Given the description of an element on the screen output the (x, y) to click on. 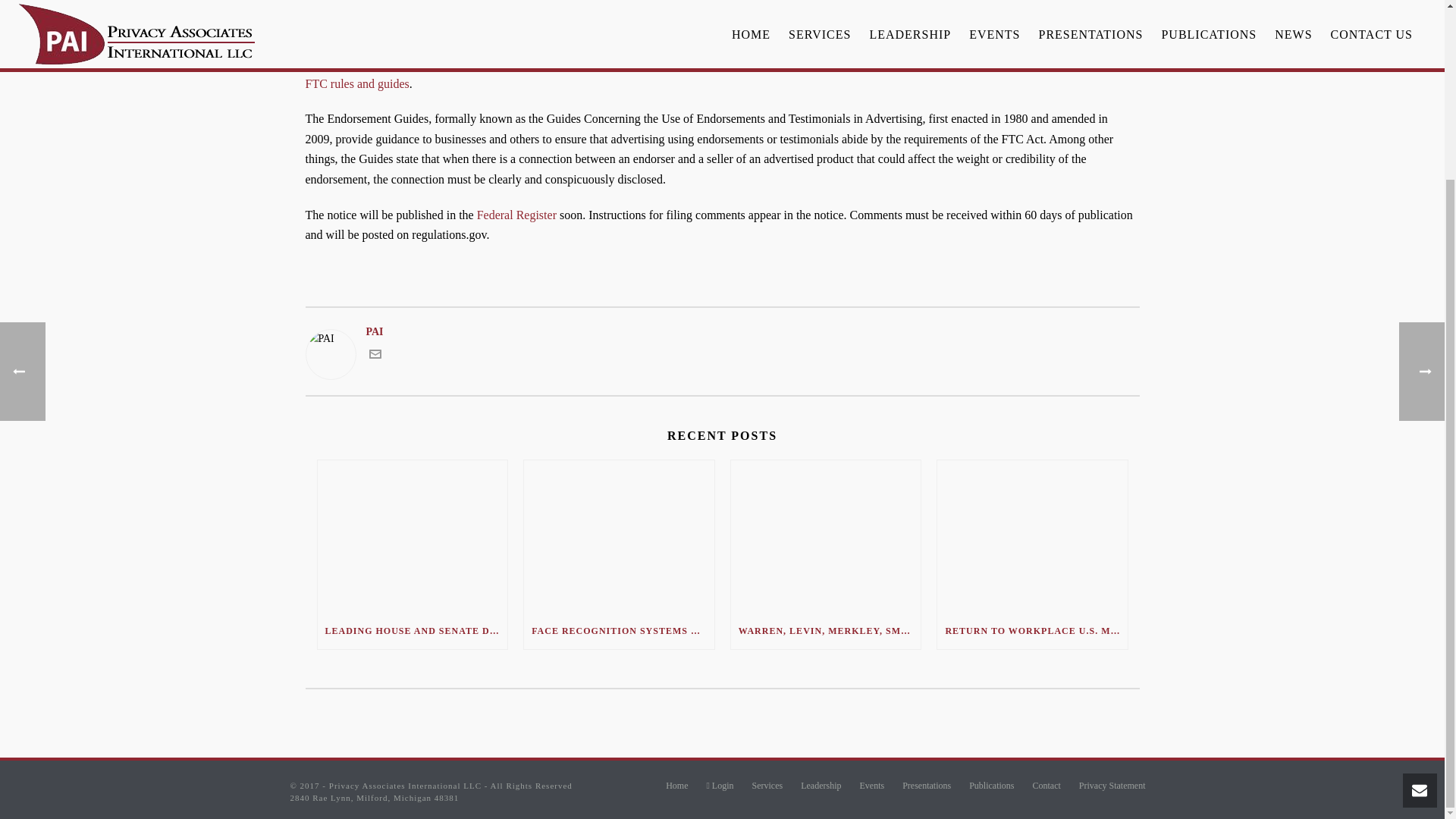
Return to Workplace U.S. Memorandum for Employers (1031, 536)
February 12, 2020 (410, 21)
PAI (326, 21)
Posts by PAI (326, 21)
Get in touch with me via email (374, 356)
0 (1130, 21)
NEWS (481, 21)
